Given the description of an element on the screen output the (x, y) to click on. 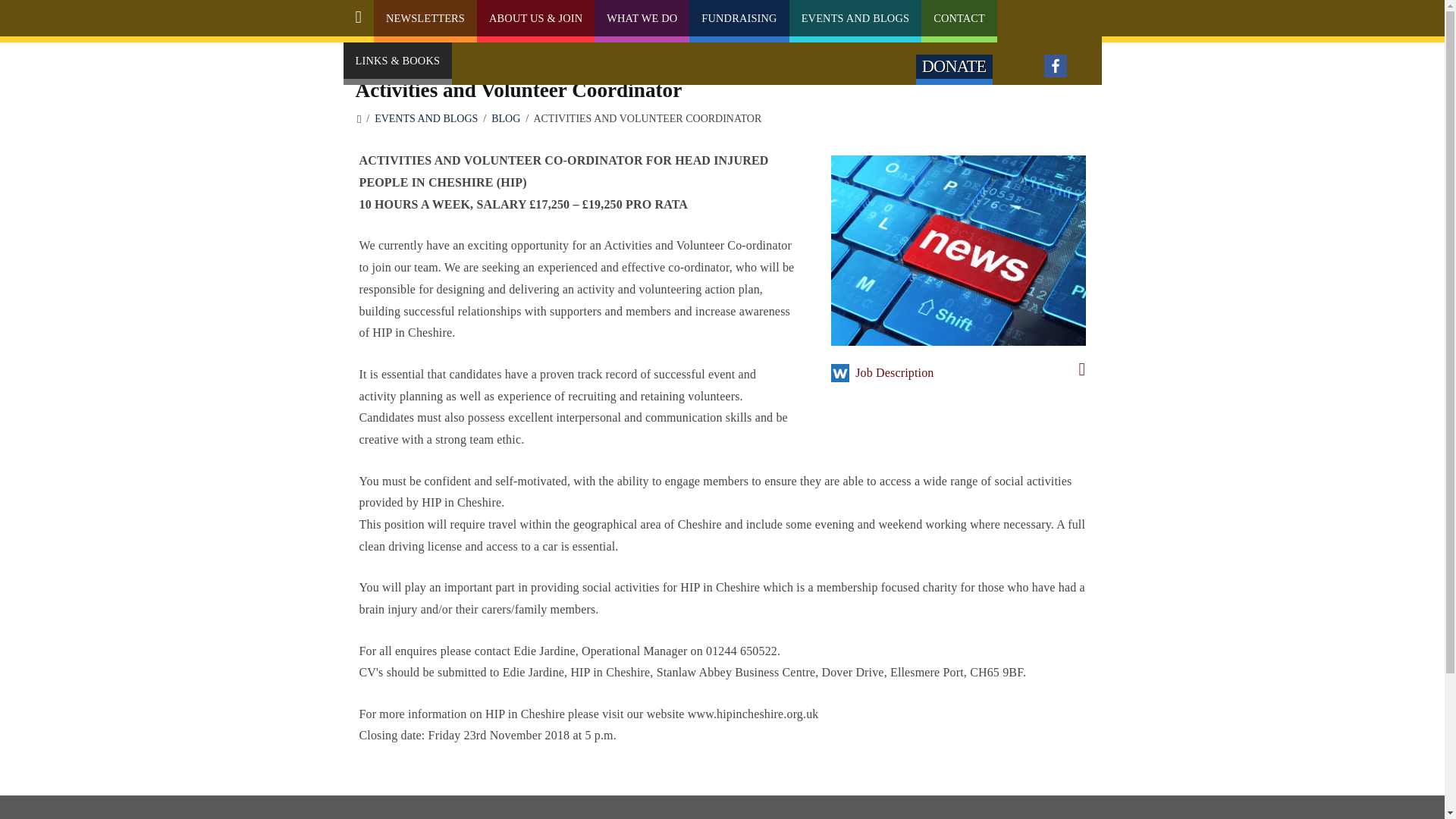
WHAT WE DO (641, 18)
EVENTS AND BLOGS (425, 118)
BLOG (505, 118)
EVENTS AND BLOGS (855, 18)
Job Description (967, 372)
CONTACT (959, 18)
FUNDRAISING (738, 18)
NEWSLETTERS (425, 18)
Visit our Facebook Page (1055, 65)
